Given the description of an element on the screen output the (x, y) to click on. 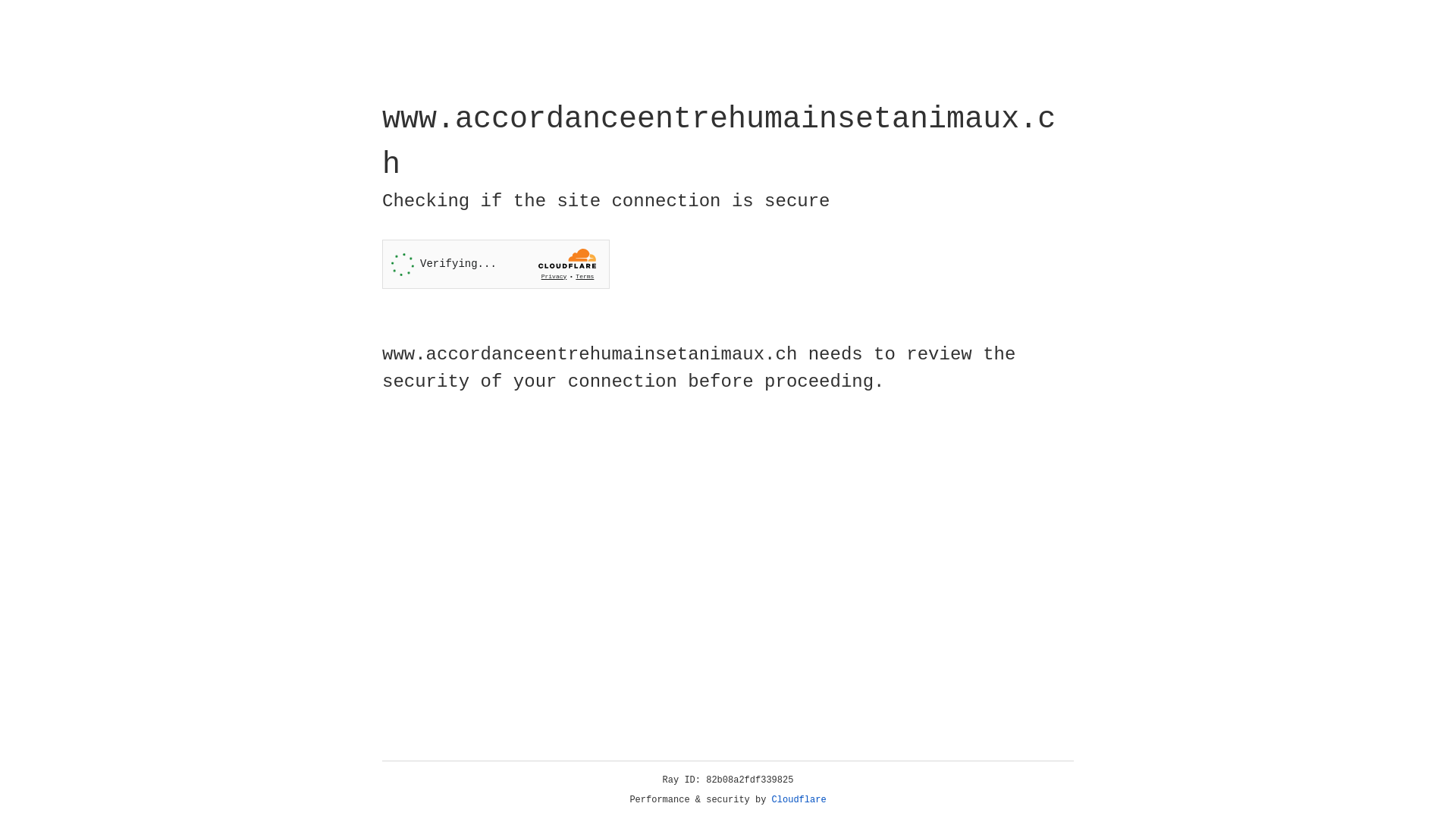
Cloudflare Element type: text (798, 799)
Widget containing a Cloudflare security challenge Element type: hover (495, 263)
